Given the description of an element on the screen output the (x, y) to click on. 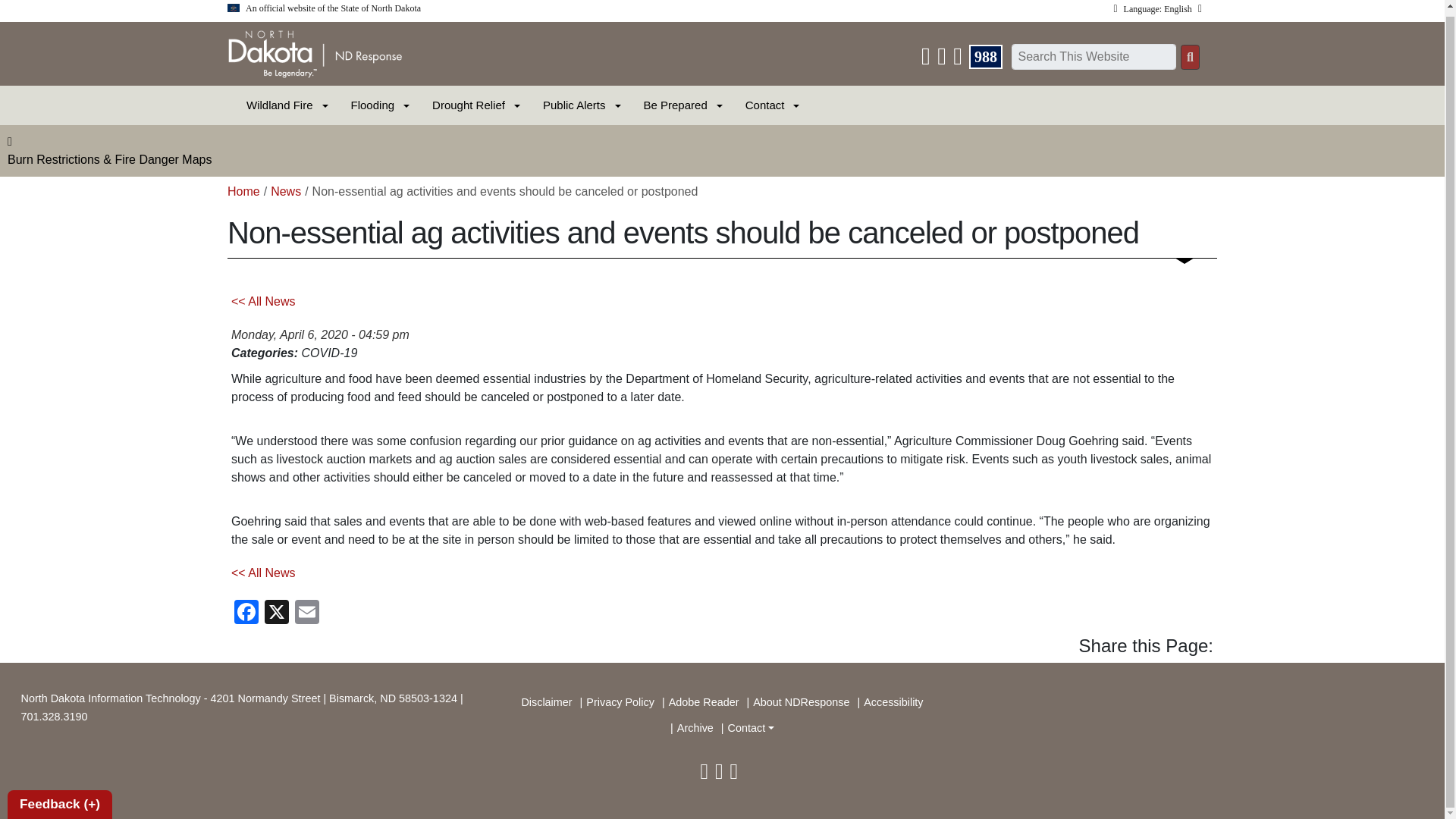
Follow Us on Facebook (943, 60)
Link will open in a new tab and redirect you to email (306, 610)
Follow Us on Facebook (720, 775)
988 Suicide Prevention (986, 56)
Contact Us (927, 60)
share to facebook (246, 610)
Public Alerts (574, 105)
988 (986, 56)
Home (315, 51)
About NDResponse (801, 701)
